Given the description of an element on the screen output the (x, y) to click on. 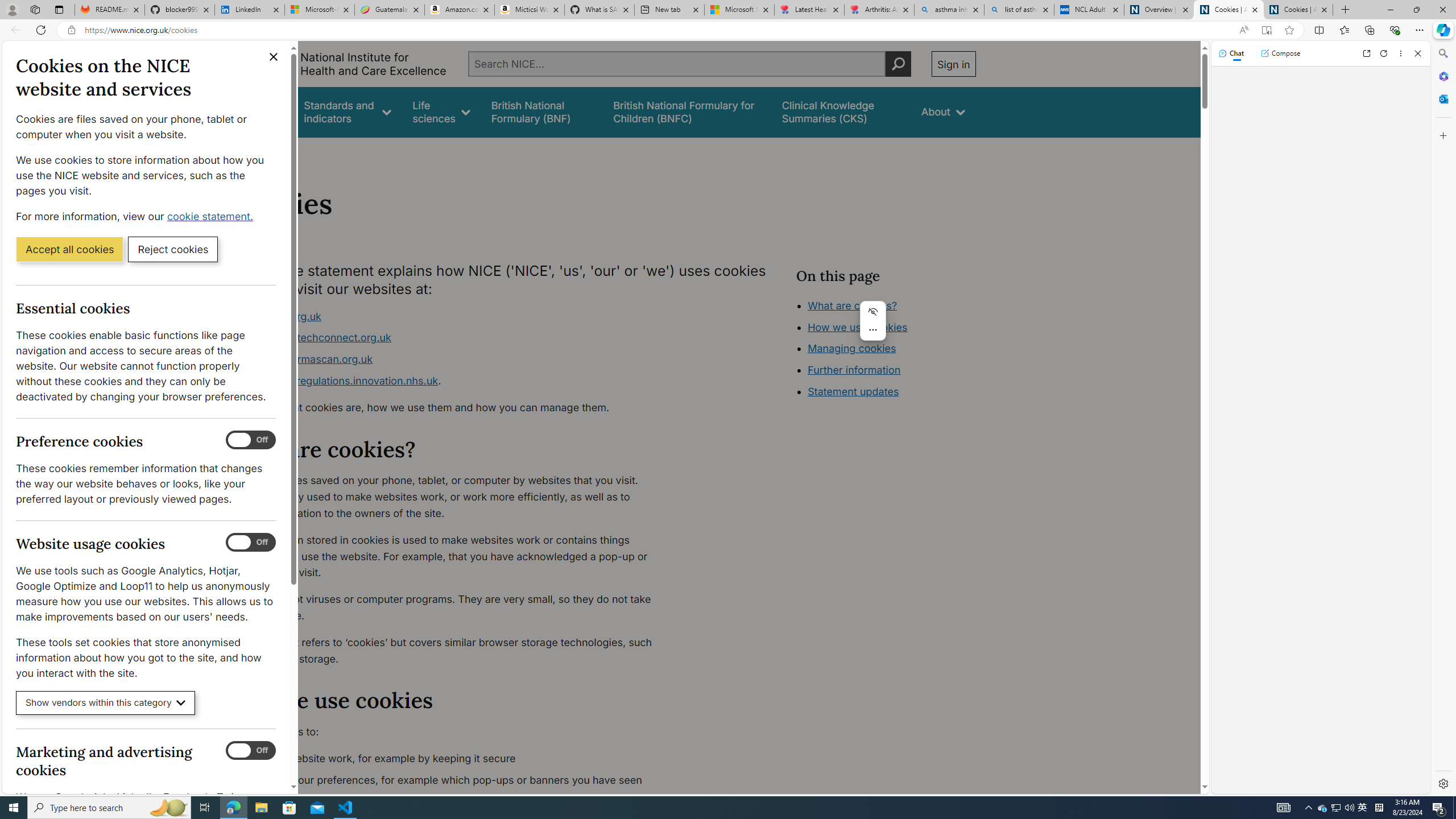
Enter Immersive Reader (F9) (1266, 29)
www.healthtechconnect.org.uk (314, 337)
Managing cookies (852, 348)
Perform search (898, 63)
NCL Adult Asthma Inhaler Choice Guideline (1088, 9)
Guidance (260, 111)
Further information (854, 369)
How we use cookies (896, 389)
How we use cookies (857, 327)
www.nice.org.uk (452, 316)
Close cookie banner (273, 56)
